Given the description of an element on the screen output the (x, y) to click on. 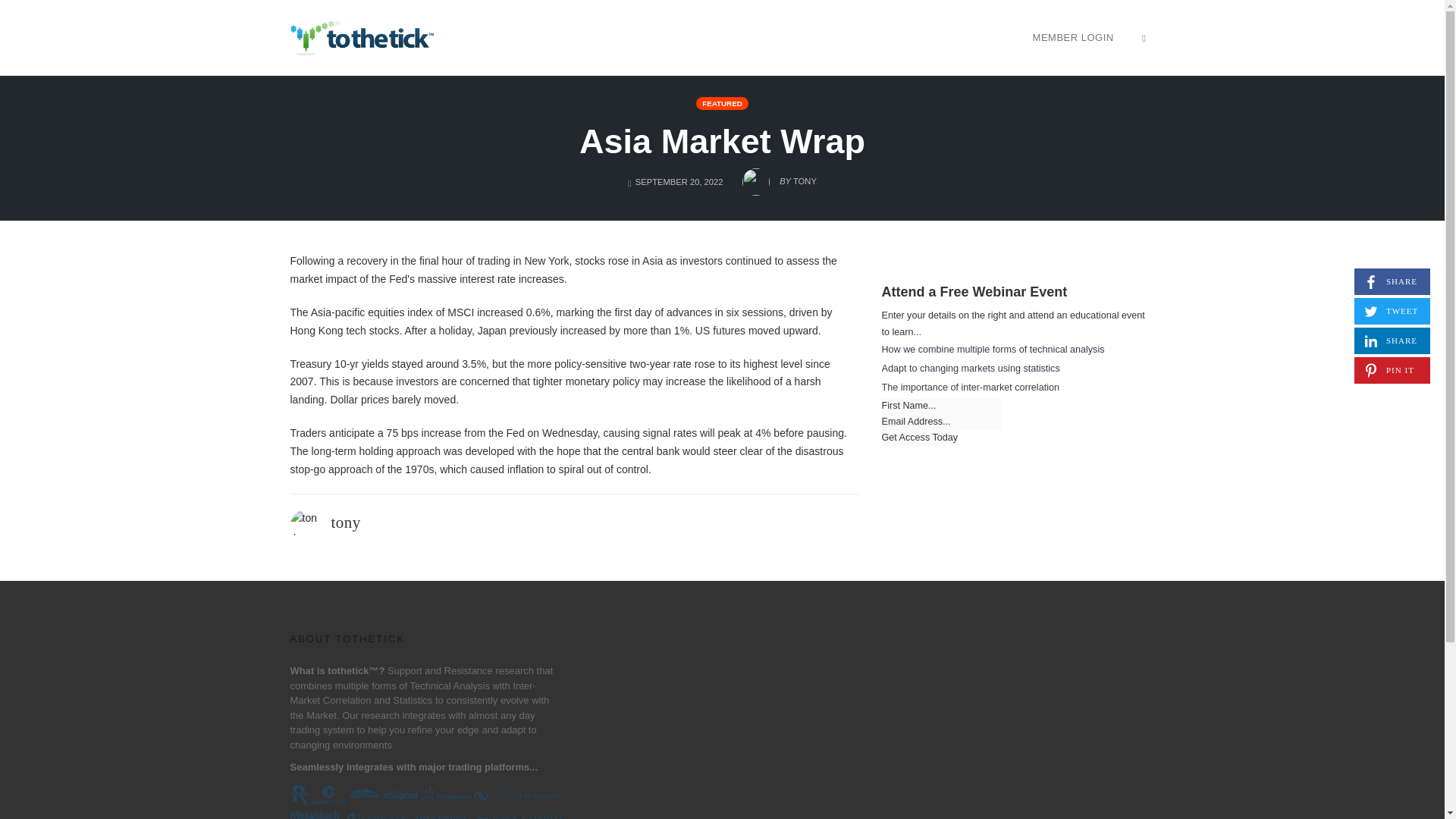
First Name... (940, 406)
Get Access Today (919, 437)
Email Address... (940, 421)
Get Access Today (919, 437)
BY TONY (779, 176)
Asia Market Wrap (721, 141)
FEATURED (721, 103)
OPEN SEARCH FORM (1144, 37)
MEMBER LOGIN (1391, 281)
tony (1391, 340)
